Given the description of an element on the screen output the (x, y) to click on. 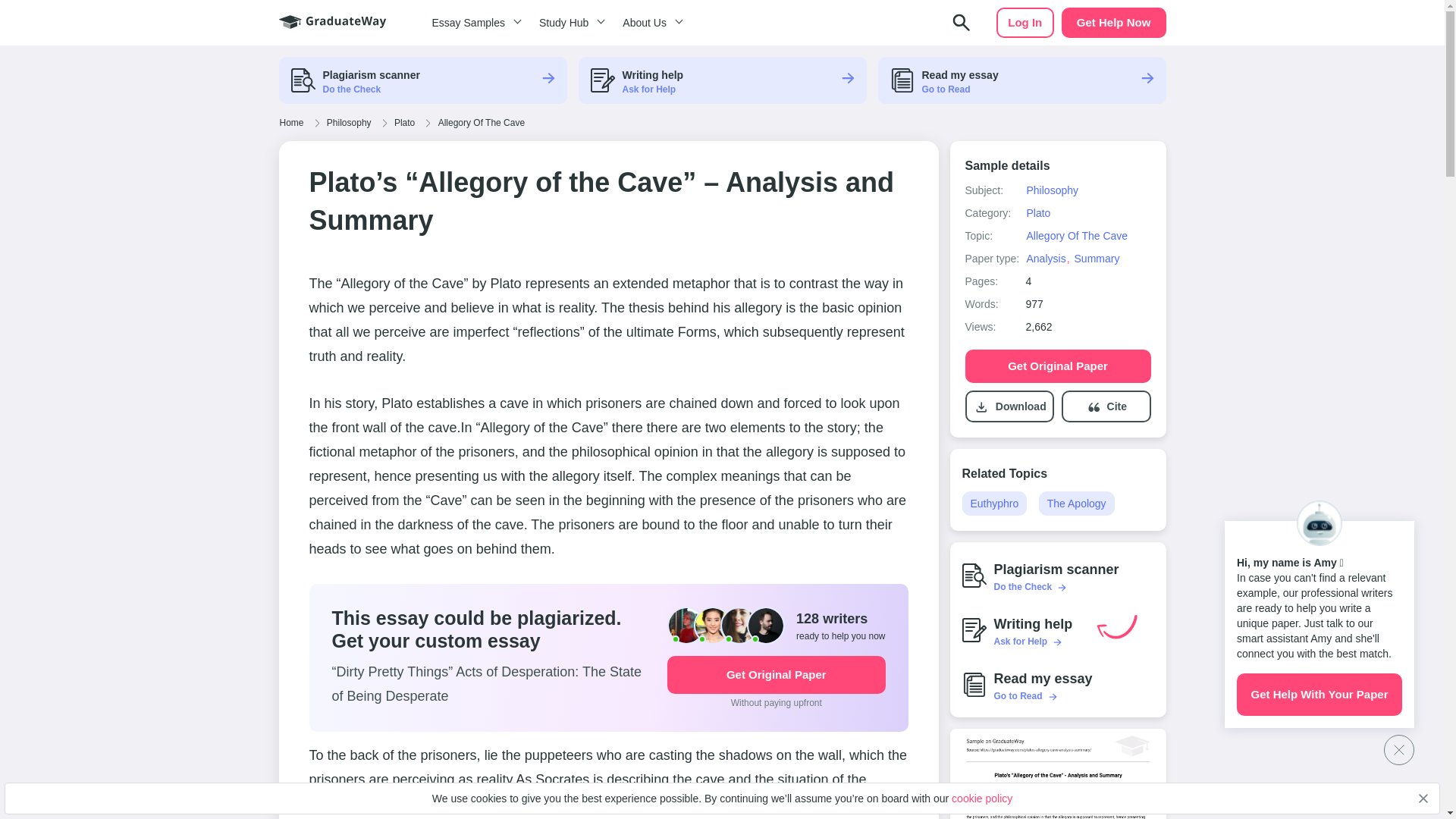
About Us (649, 22)
Plato (403, 122)
Essay Samples (473, 22)
Cite (1116, 406)
Plato (1038, 213)
Philosophy (1051, 190)
Study Hub (569, 22)
Philosophy (349, 122)
Allegory Of The Cave (481, 122)
Home (291, 122)
